Given the description of an element on the screen output the (x, y) to click on. 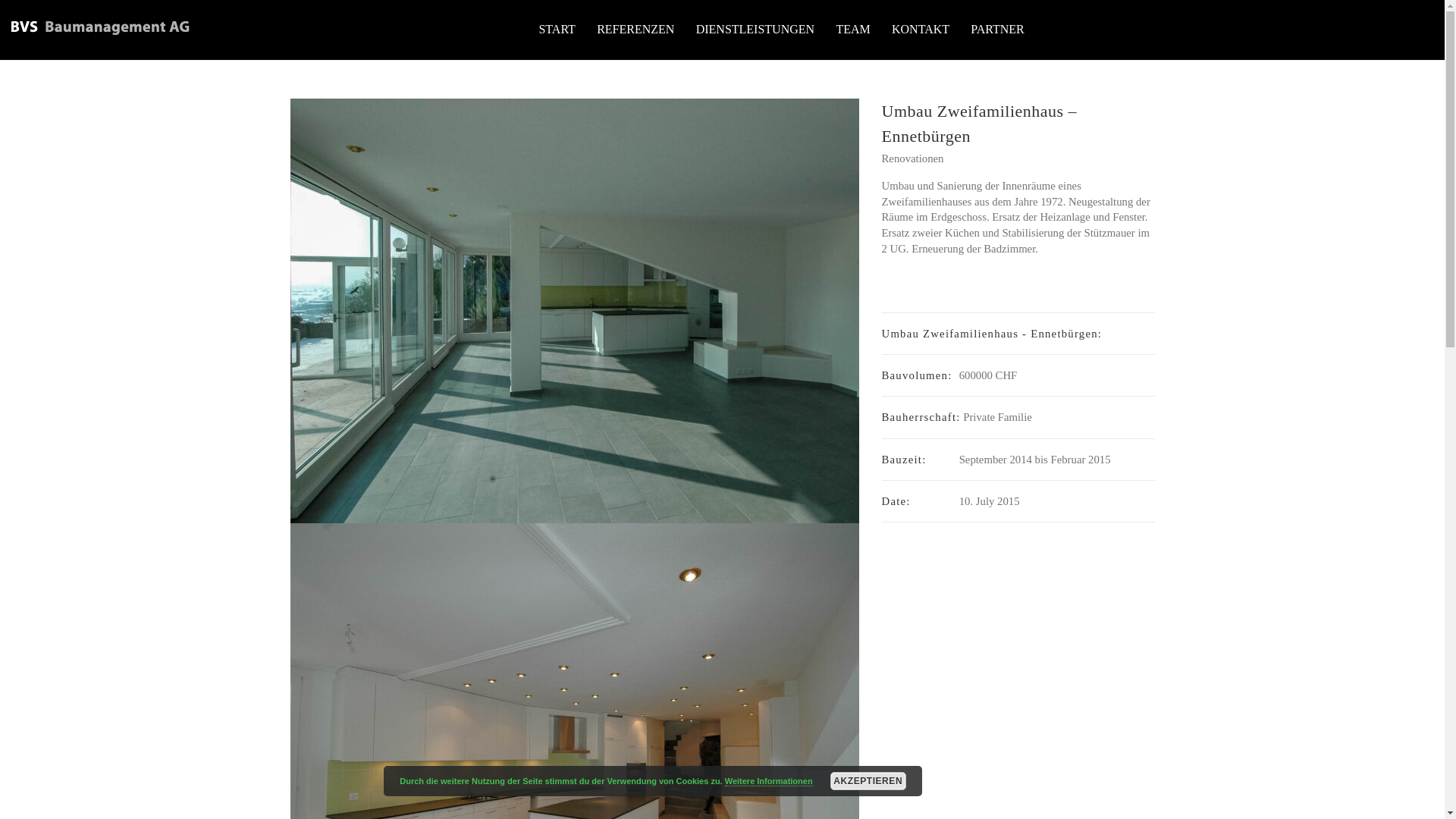
Weitere Informationen Element type: text (768, 781)
PARTNER Element type: text (997, 29)
KONTAKT Element type: text (920, 29)
TEAM Element type: text (852, 29)
AKZEPTIEREN Element type: text (868, 780)
Renovationen Element type: text (912, 158)
REFERENZEN Element type: text (635, 29)
START Element type: text (556, 29)
BVS AG | Baumanagement Element type: hover (100, 27)
DIENSTLEISTUNGEN Element type: text (754, 29)
